Given the description of an element on the screen output the (x, y) to click on. 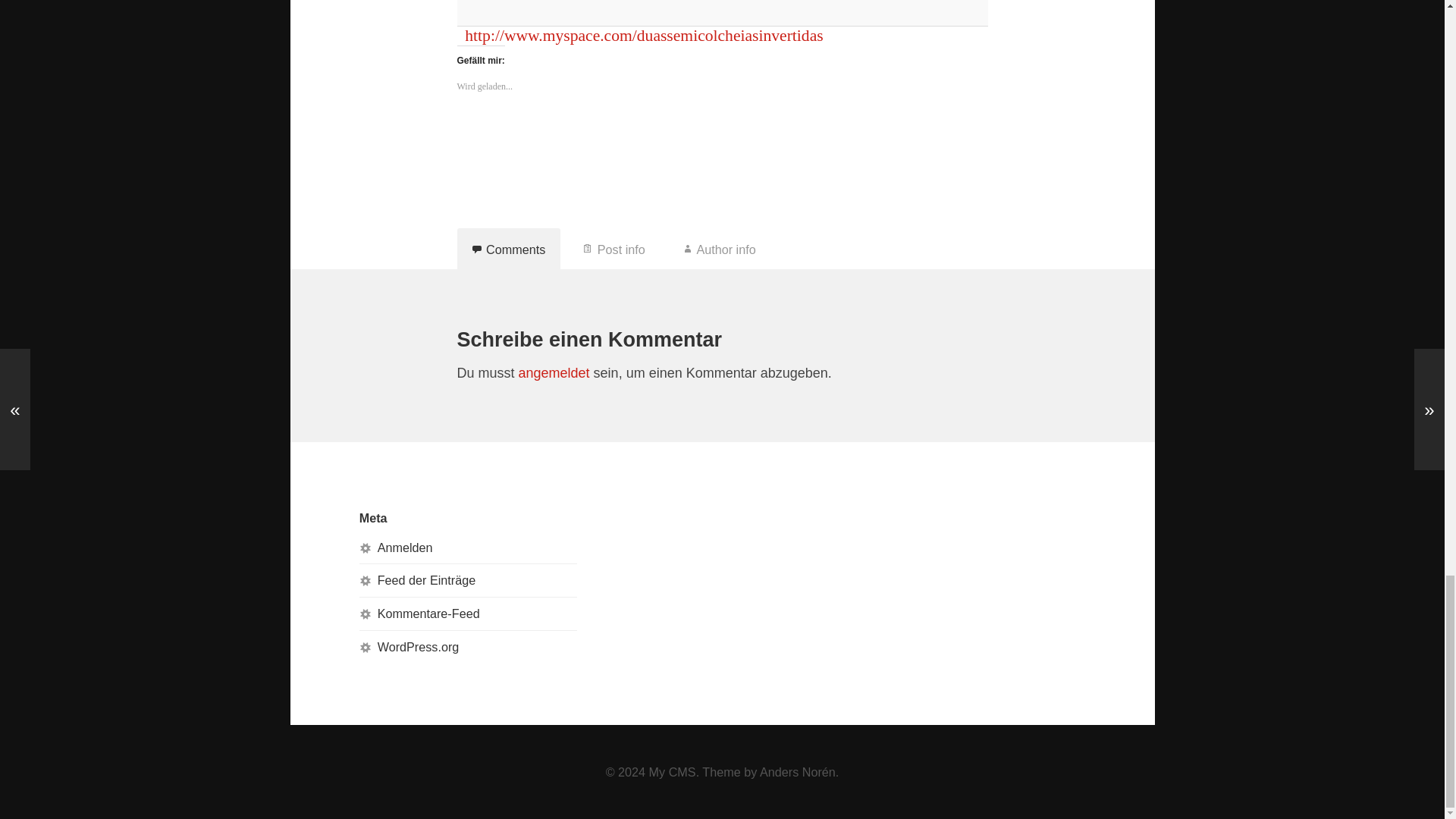
Liken oder rebloggen (722, 137)
angemeldet (553, 372)
My CMS (672, 771)
My CMS (672, 771)
Comments (508, 248)
WordPress.org (418, 646)
Kommentare-Feed (428, 612)
Post info (614, 248)
Anmelden (404, 547)
Author info (719, 248)
